Given the description of an element on the screen output the (x, y) to click on. 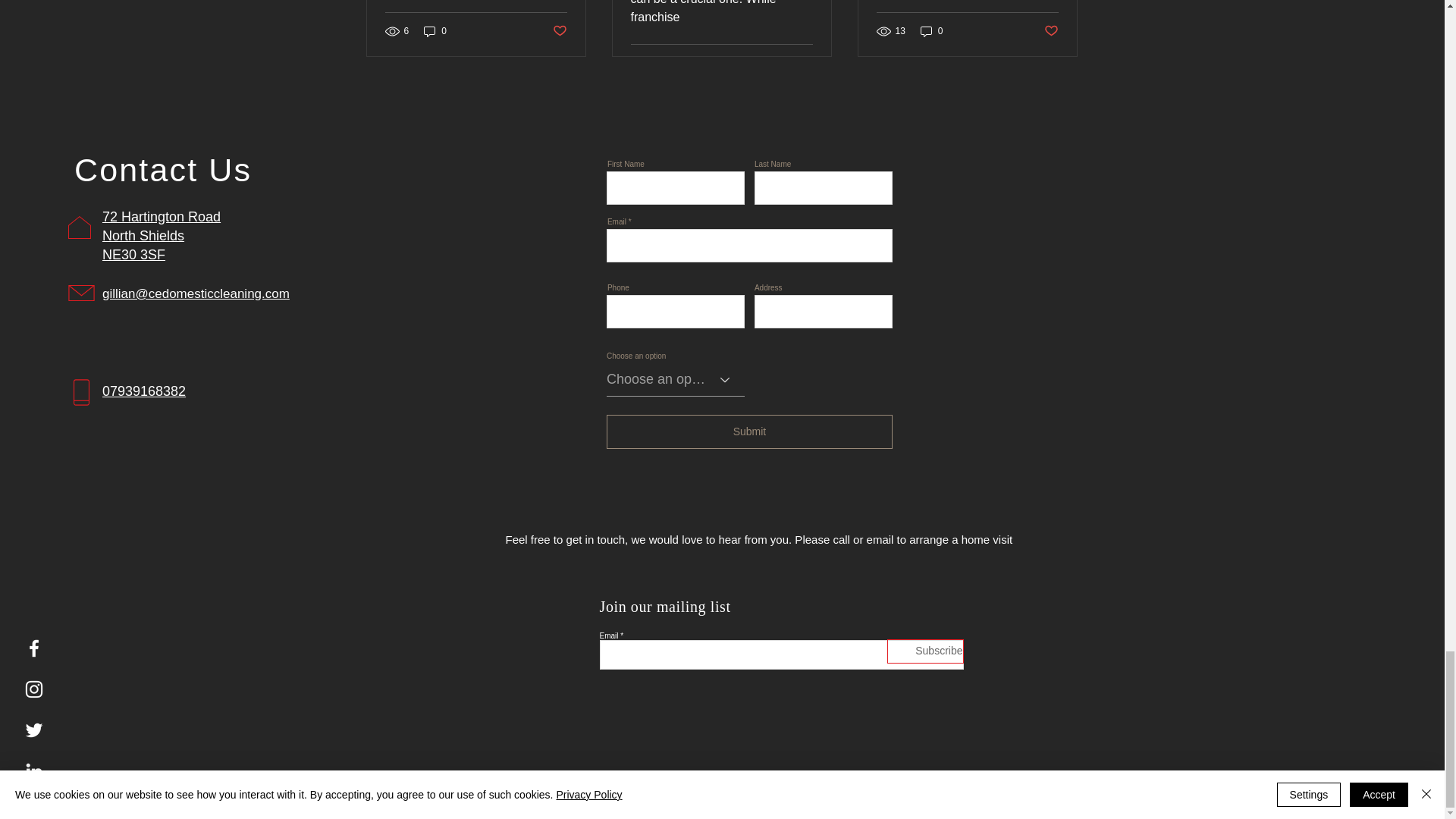
Post not marked as liked (558, 31)
Post not marked as liked (1050, 31)
Post not marked as liked (804, 63)
0 (435, 30)
0 (931, 30)
